Given the description of an element on the screen output the (x, y) to click on. 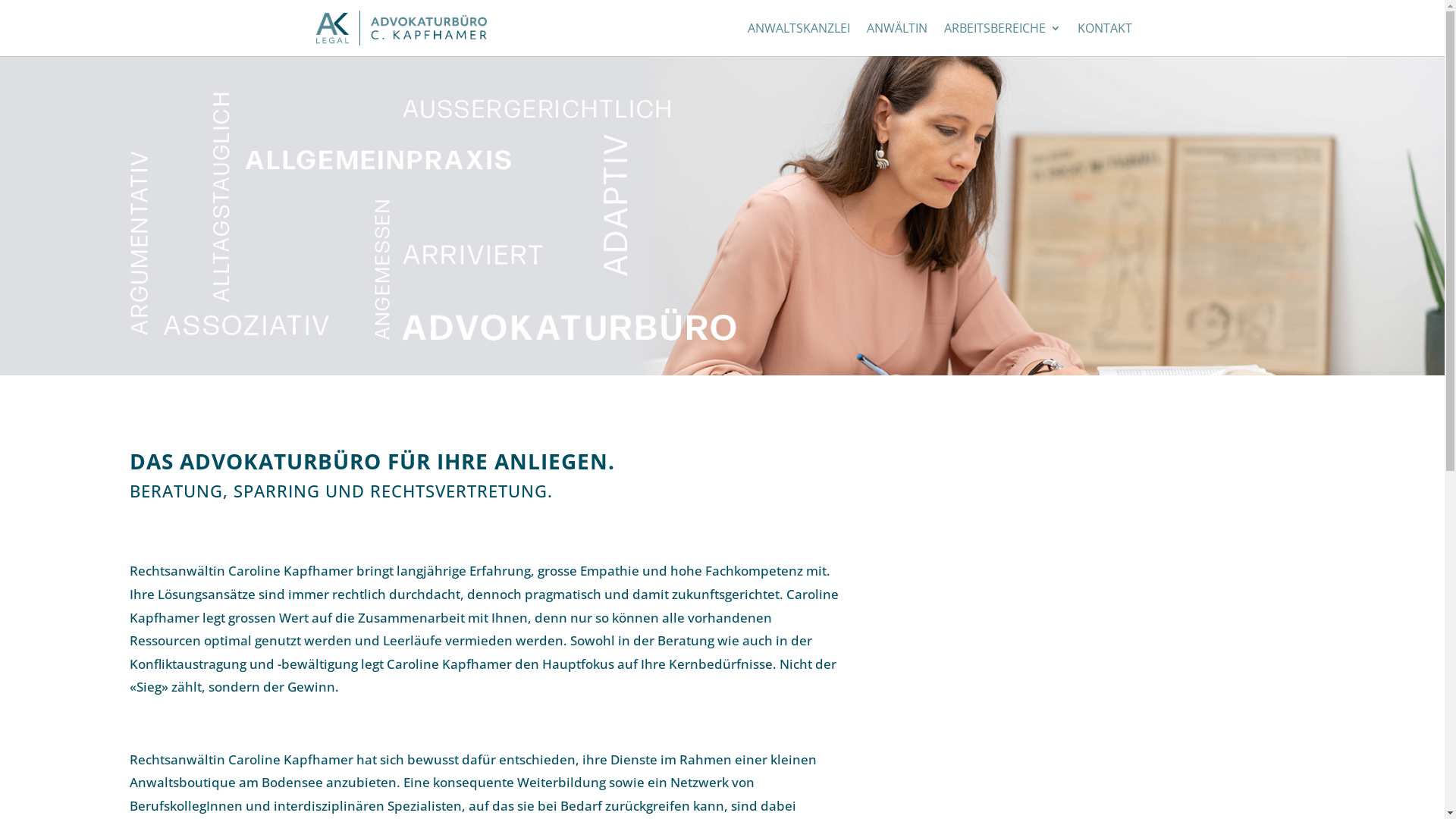
KONTAKT Element type: text (1103, 39)
ARBEITSBEREICHE Element type: text (1001, 39)
ANWALTSKANZLEI Element type: text (798, 39)
